Given the description of an element on the screen output the (x, y) to click on. 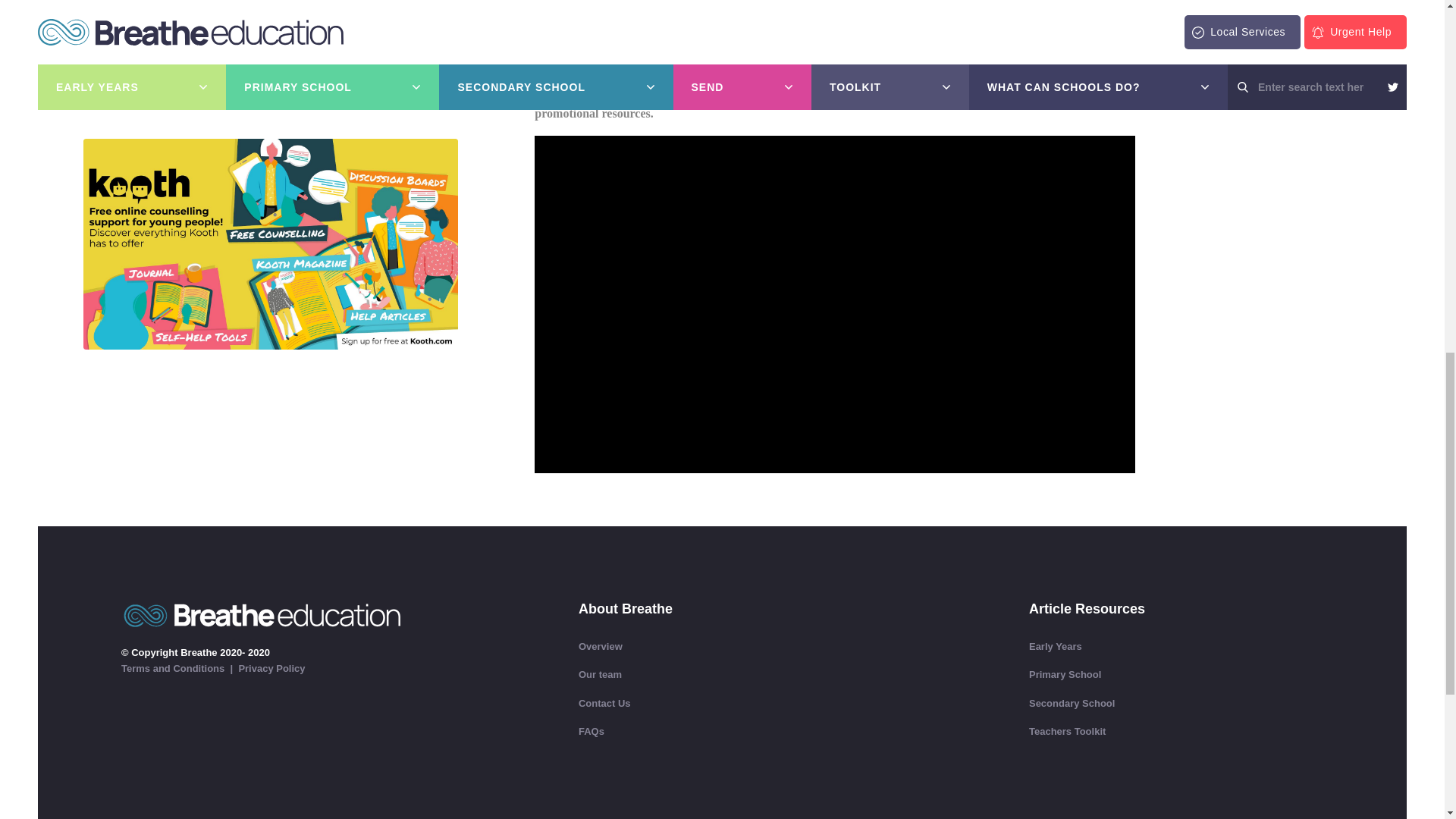
Kooth logo (270, 60)
